Given the description of an element on the screen output the (x, y) to click on. 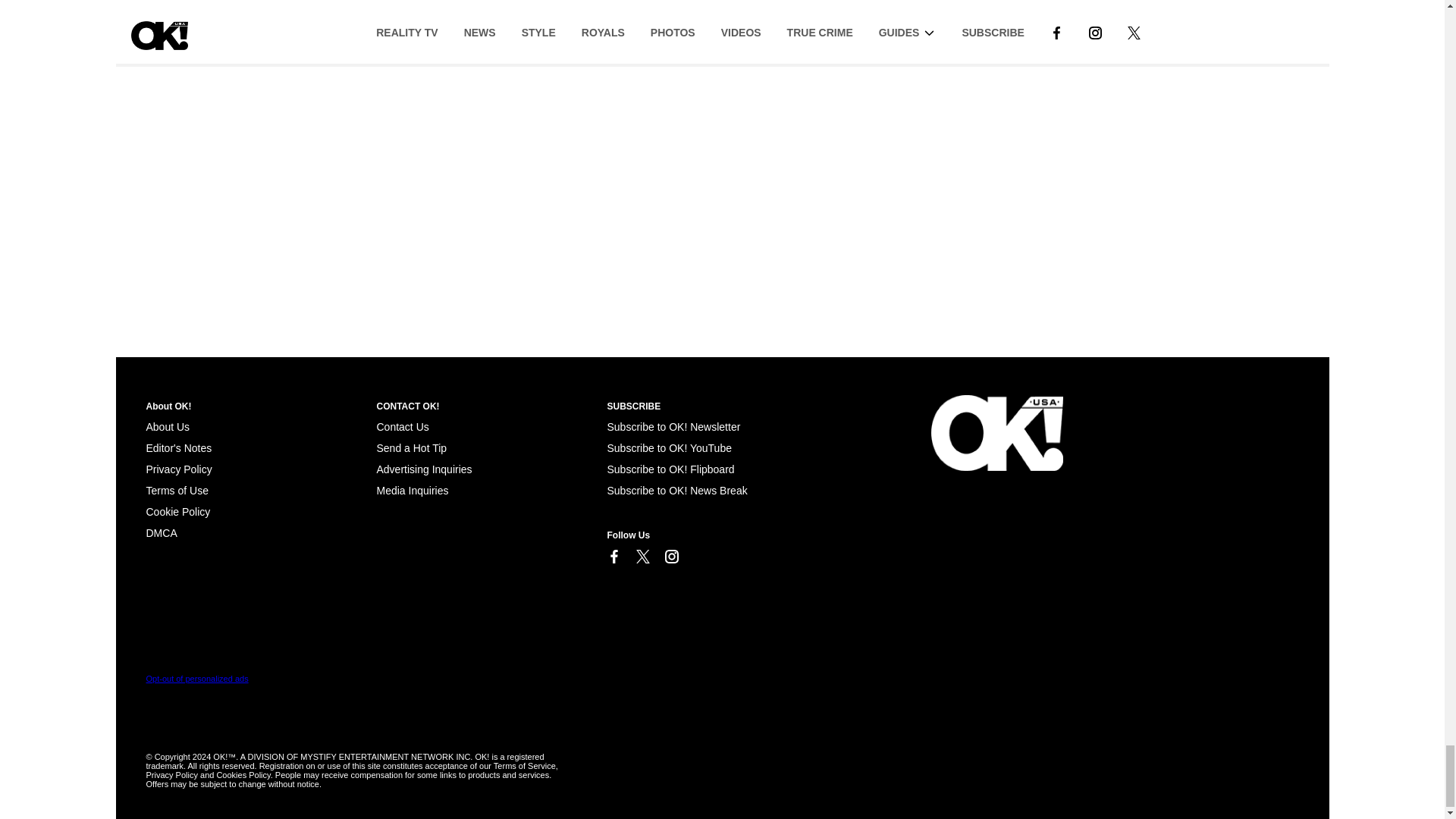
Link to Facebook (613, 556)
Privacy Policy (178, 469)
Link to Instagram (670, 556)
Editor's Notes (178, 448)
Cookie Policy (177, 511)
Contact Us (401, 426)
Send a Hot Tip (410, 448)
Link to X (641, 556)
Terms of Use (176, 490)
Cookie Policy (160, 532)
